Given the description of an element on the screen output the (x, y) to click on. 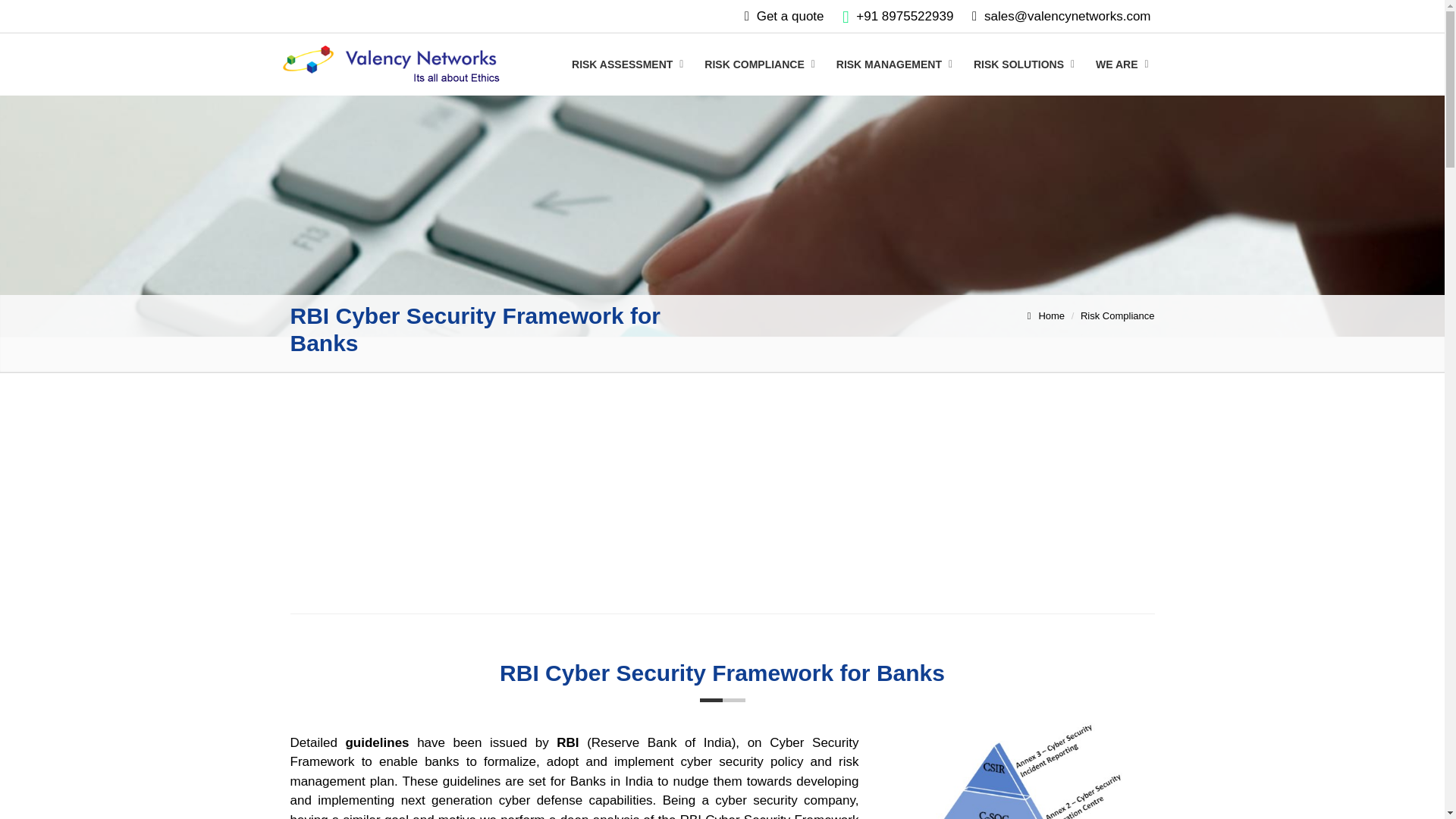
RISK MANAGEMENT (894, 63)
RISK SOLUTIONS (1024, 63)
Get a quote (790, 16)
RISK COMPLIANCE (759, 63)
RISK ASSESSMENT (627, 63)
